Given the description of an element on the screen output the (x, y) to click on. 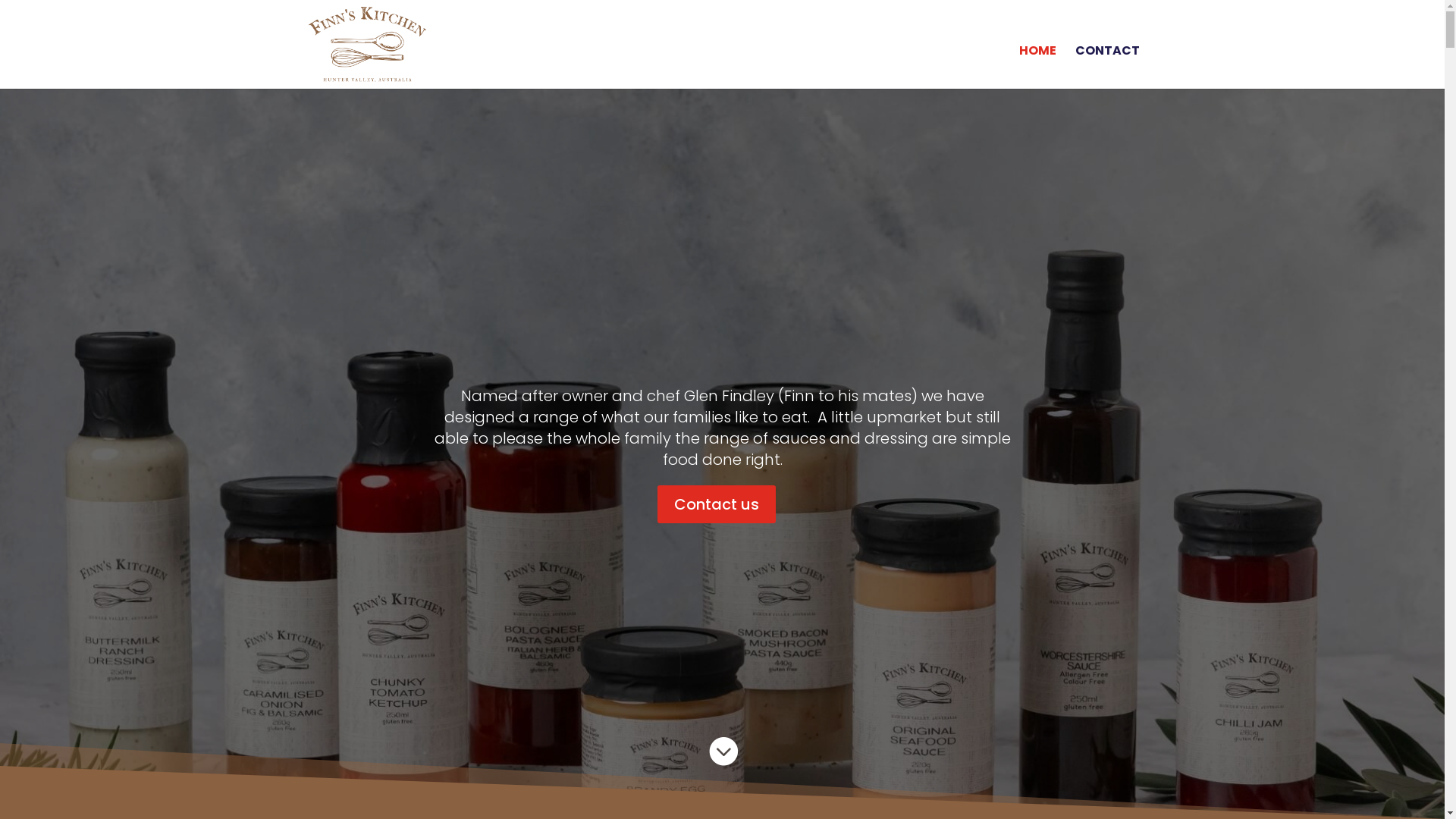
CONTACT Element type: text (1107, 63)
HOME Element type: text (1037, 63)
Contact us Element type: text (716, 504)
